Given the description of an element on the screen output the (x, y) to click on. 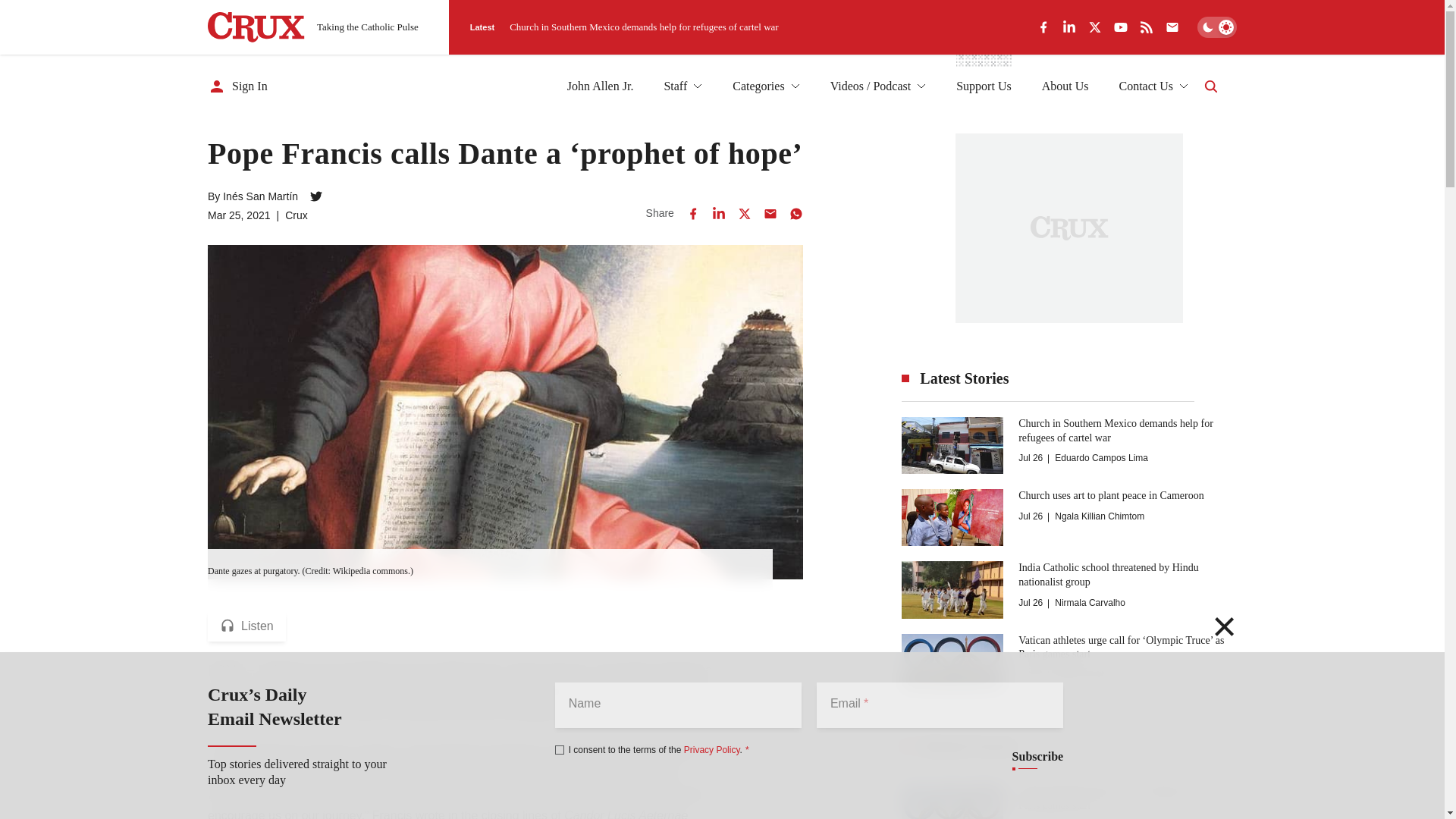
Categories (765, 85)
true (559, 749)
Subscribe (1037, 756)
John Allen Jr. (600, 85)
Staff (682, 85)
Support Us (983, 85)
Sign In (237, 85)
Privacy Policy (711, 749)
